Given the description of an element on the screen output the (x, y) to click on. 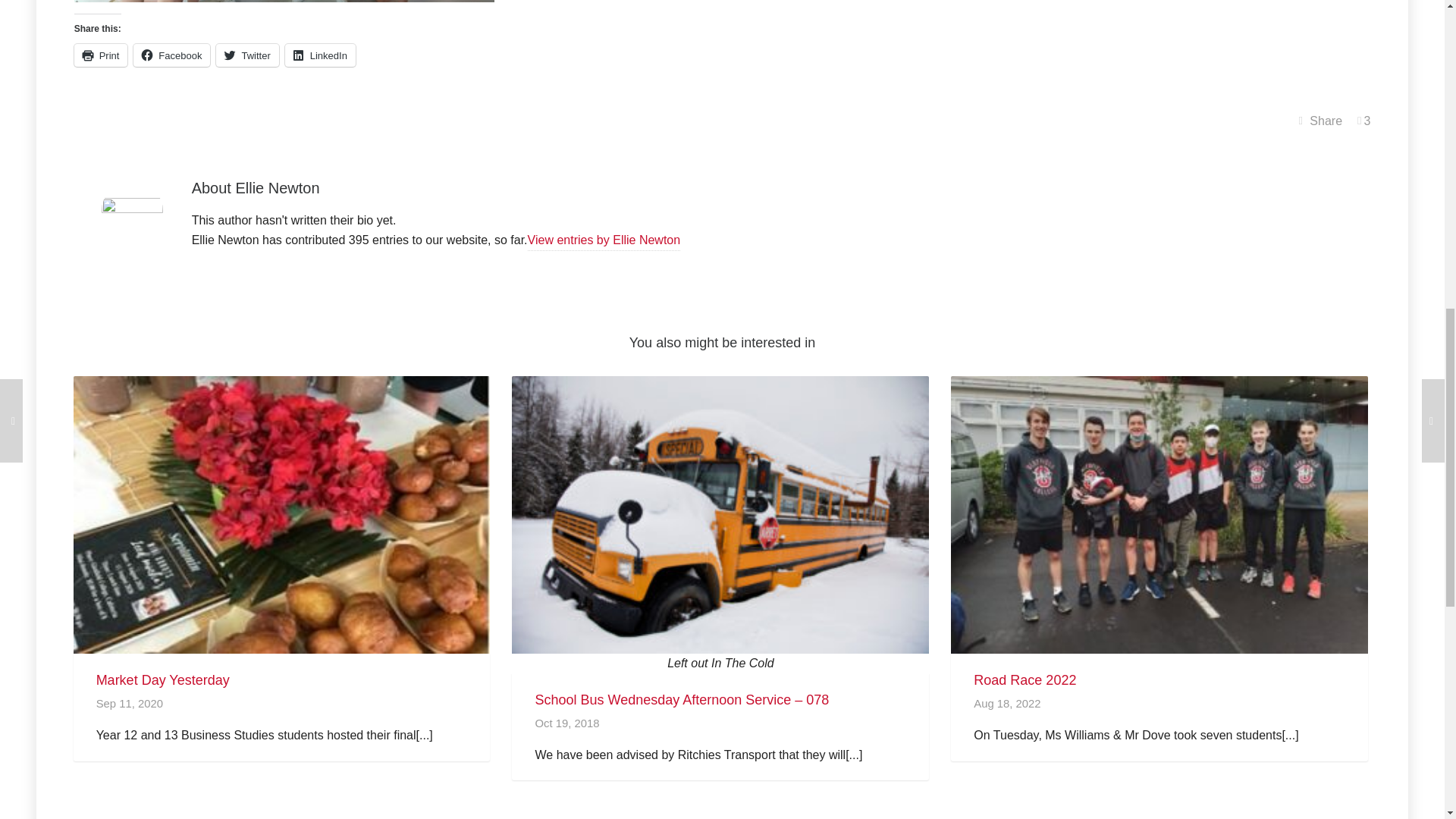
Click to share on Twitter (246, 55)
Click to share on LinkedIn (320, 55)
Click to print (101, 55)
Click to share on Facebook (171, 55)
